Given the description of an element on the screen output the (x, y) to click on. 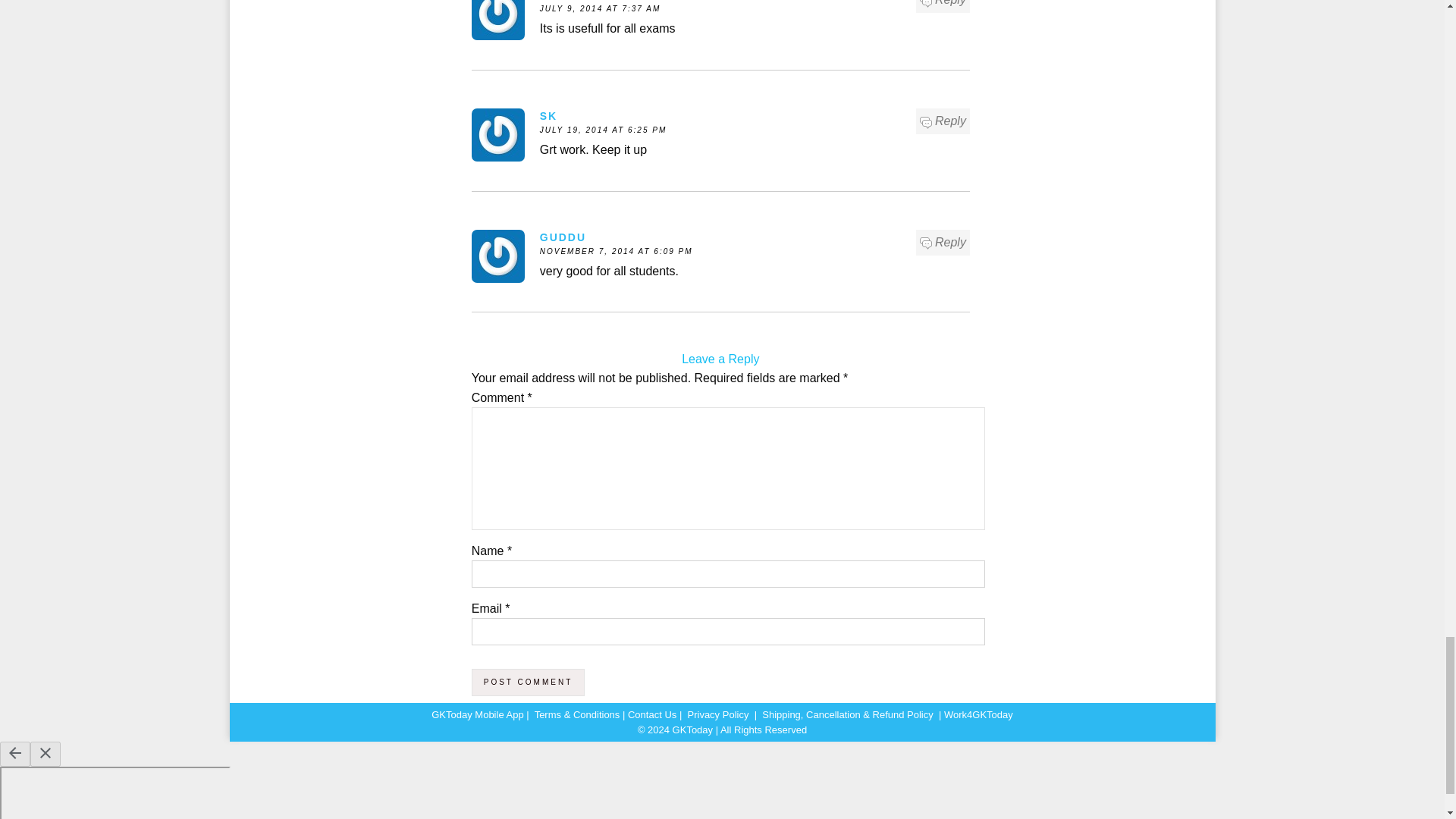
Post Comment (528, 682)
Reply (943, 242)
Post Comment (528, 682)
Reply (943, 4)
Reply (943, 121)
